Given the description of an element on the screen output the (x, y) to click on. 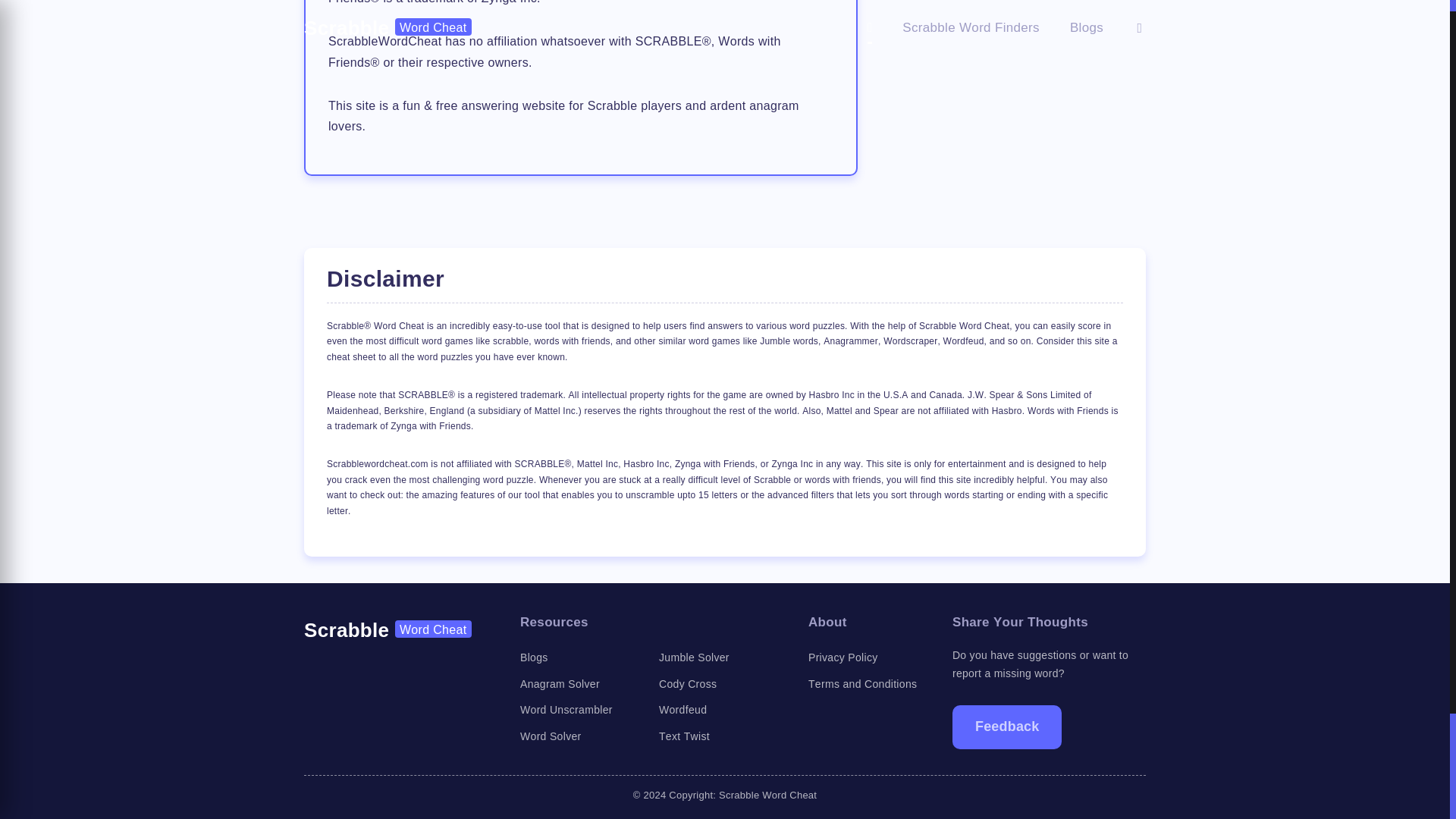
Wordfeud (682, 709)
Scrabble Word Cheat (387, 630)
Privacy Policy (842, 657)
Text Twist (684, 736)
Cody Cross (687, 684)
Anagram Solver (559, 684)
Word Unscrambler (565, 709)
Word Solver (549, 736)
Blogs (533, 657)
Jumble Solver (694, 657)
